Given the description of an element on the screen output the (x, y) to click on. 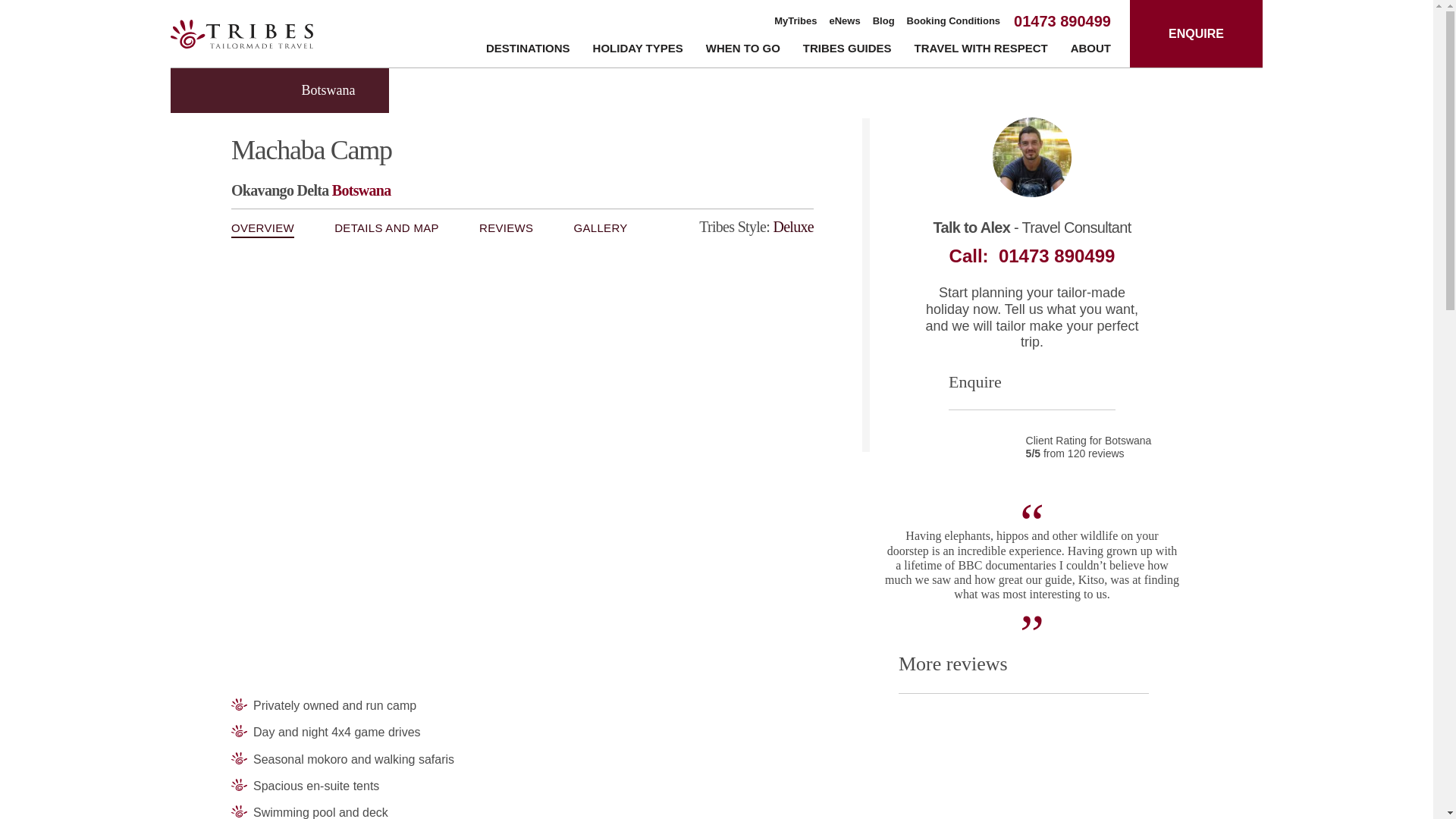
Destinations (528, 50)
DESTINATIONS (528, 50)
MyTribes (795, 21)
TRAVEL WITH RESPECT (981, 50)
Tribes (241, 33)
ABOUT (1090, 50)
eNews (844, 21)
Booking Conditions (953, 21)
HOLIDAY TYPES (637, 50)
Blog (883, 21)
TRIBES GUIDES (847, 50)
WHEN TO GO (743, 50)
Tribes (241, 33)
